Given the description of an element on the screen output the (x, y) to click on. 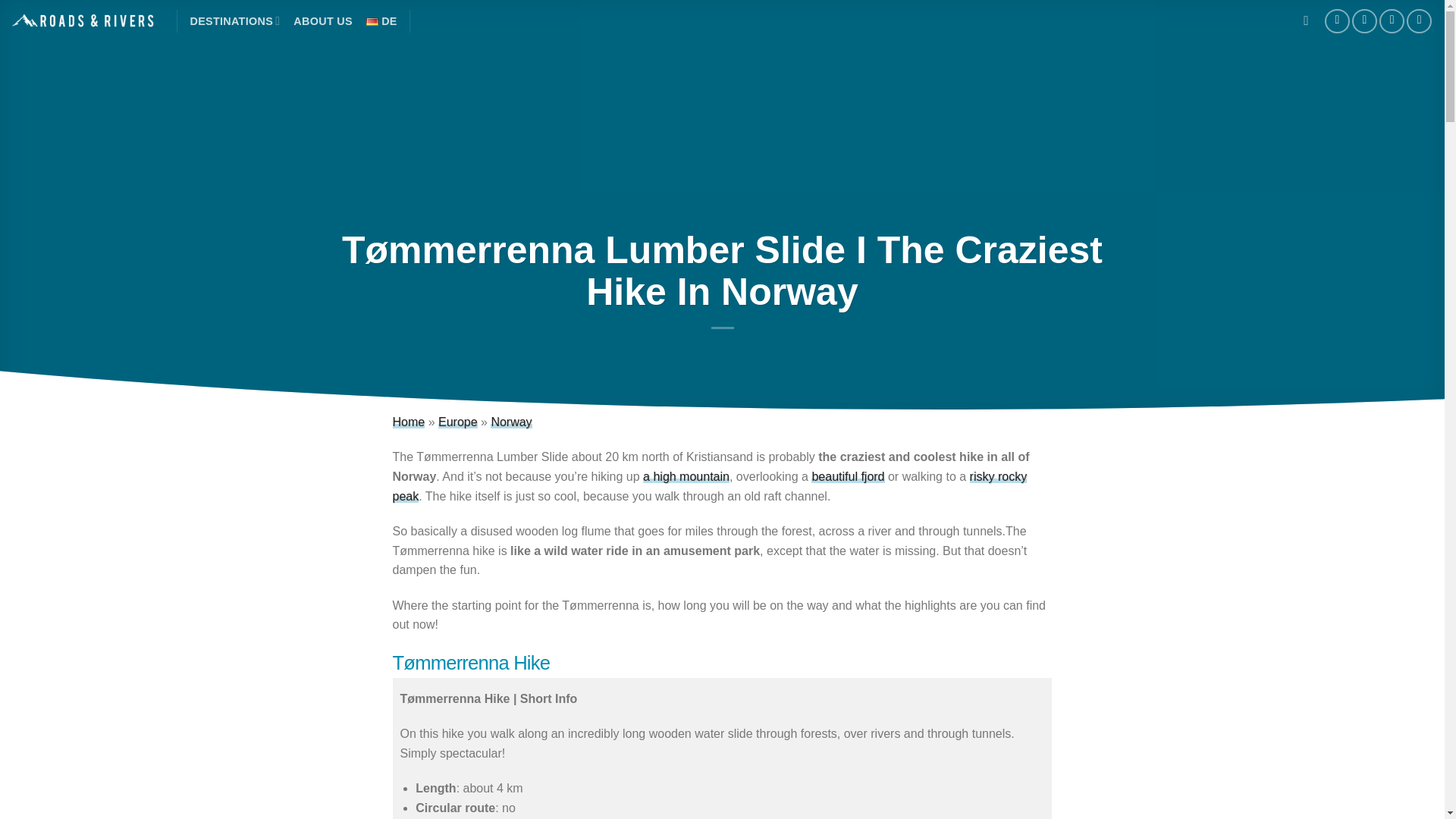
Follow on Instagram (1364, 21)
DESTINATIONS (234, 20)
ABOUT US (323, 21)
Follow on Facebook (1336, 21)
DE (381, 21)
Follow on YouTube (1418, 21)
Send us an email (1391, 21)
